Given the description of an element on the screen output the (x, y) to click on. 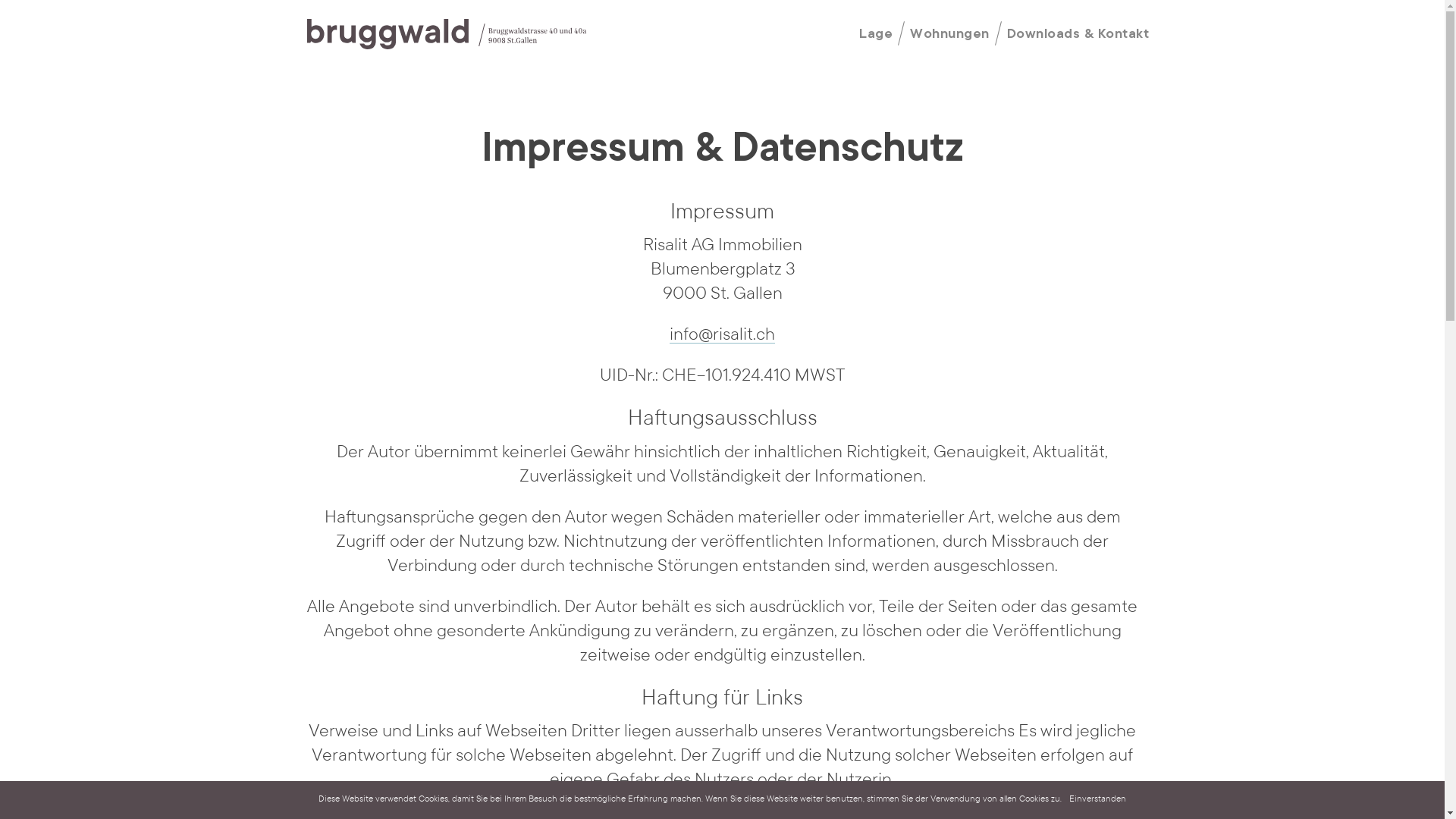
Einverstanden Element type: text (1097, 799)
Lage Element type: text (875, 34)
info@risalit.ch Element type: text (722, 335)
Wohnungen Element type: text (949, 34)
Downloads & Kontakt Element type: text (1078, 34)
